Given the description of an element on the screen output the (x, y) to click on. 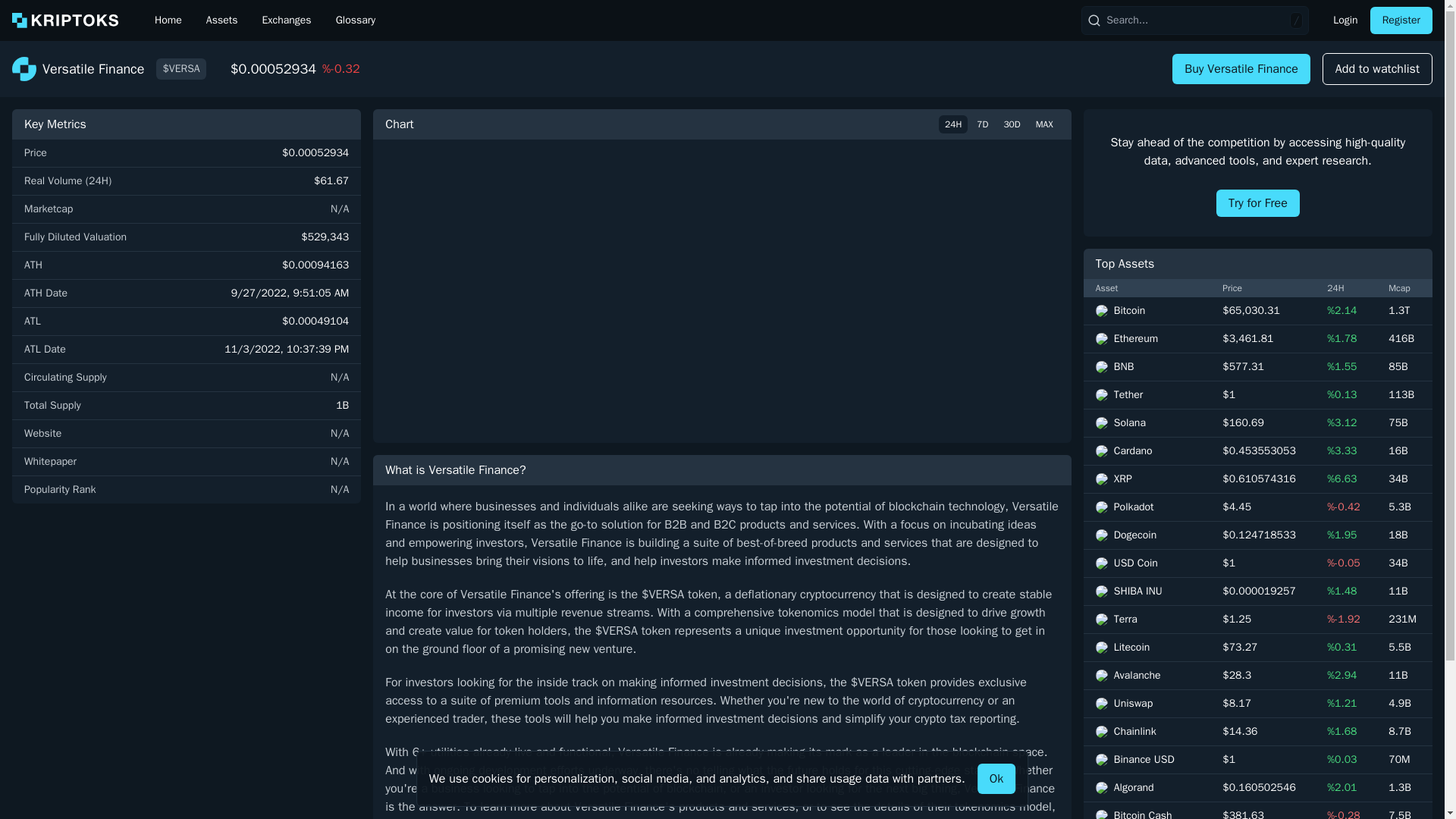
MAX (1044, 124)
Add to watchlist (1377, 69)
Dogecoin (1147, 534)
Litecoin (1147, 647)
Bitcoin (1147, 310)
SHIBA INU (1147, 590)
Register (1401, 20)
Glossary (355, 20)
Exchanges (285, 20)
Cardano (1147, 450)
Home (167, 20)
Bitcoin Cash (1147, 813)
24H (953, 124)
BNB (1147, 366)
Solana (1147, 422)
